Given the description of an element on the screen output the (x, y) to click on. 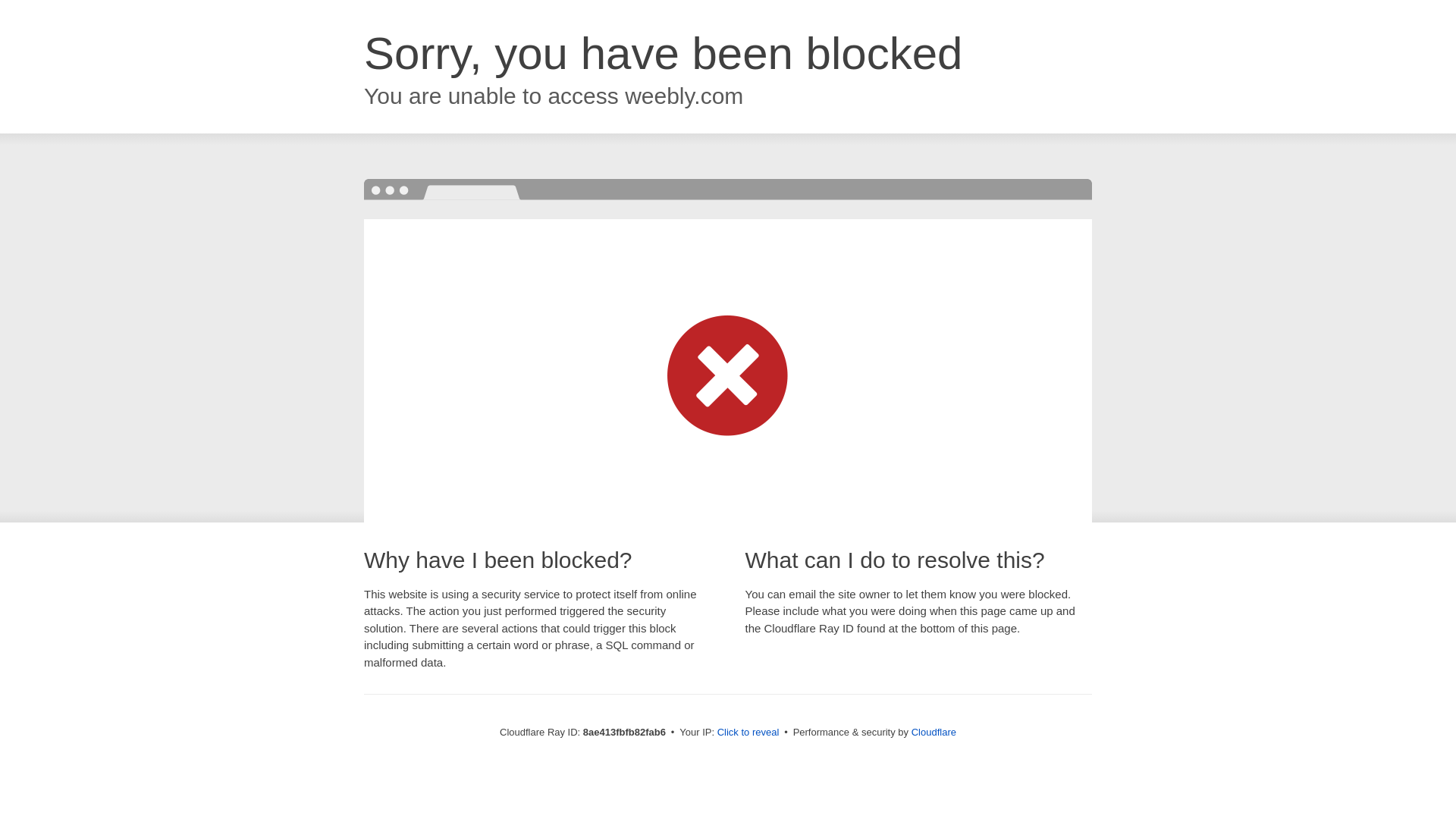
Click to reveal (747, 732)
Cloudflare (933, 731)
